Given the description of an element on the screen output the (x, y) to click on. 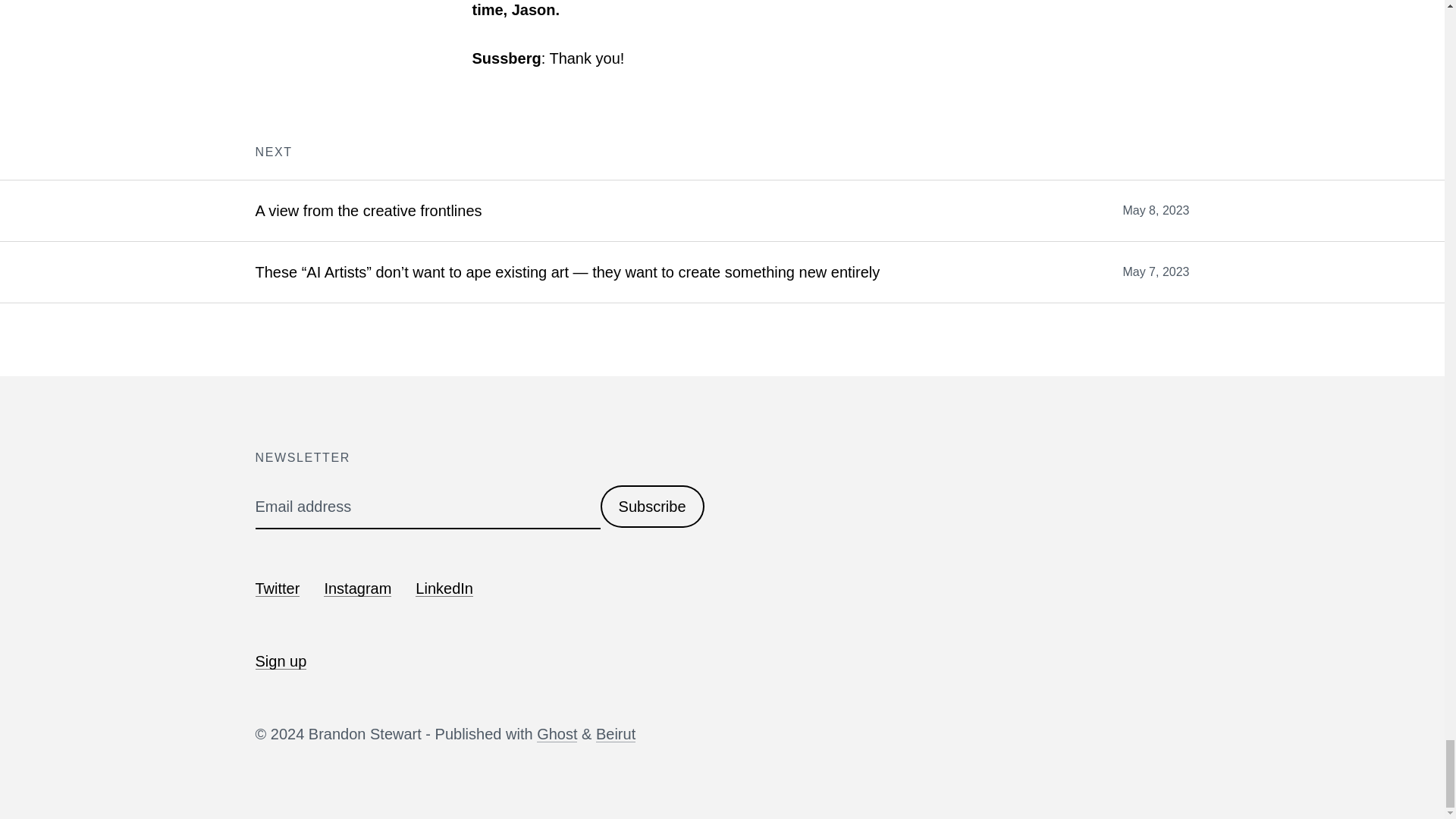
Subscribe (651, 506)
Twitter (276, 588)
Beirut (614, 733)
Instagram (357, 588)
Sign up (279, 660)
Ghost (556, 733)
LinkedIn (443, 588)
